Given the description of an element on the screen output the (x, y) to click on. 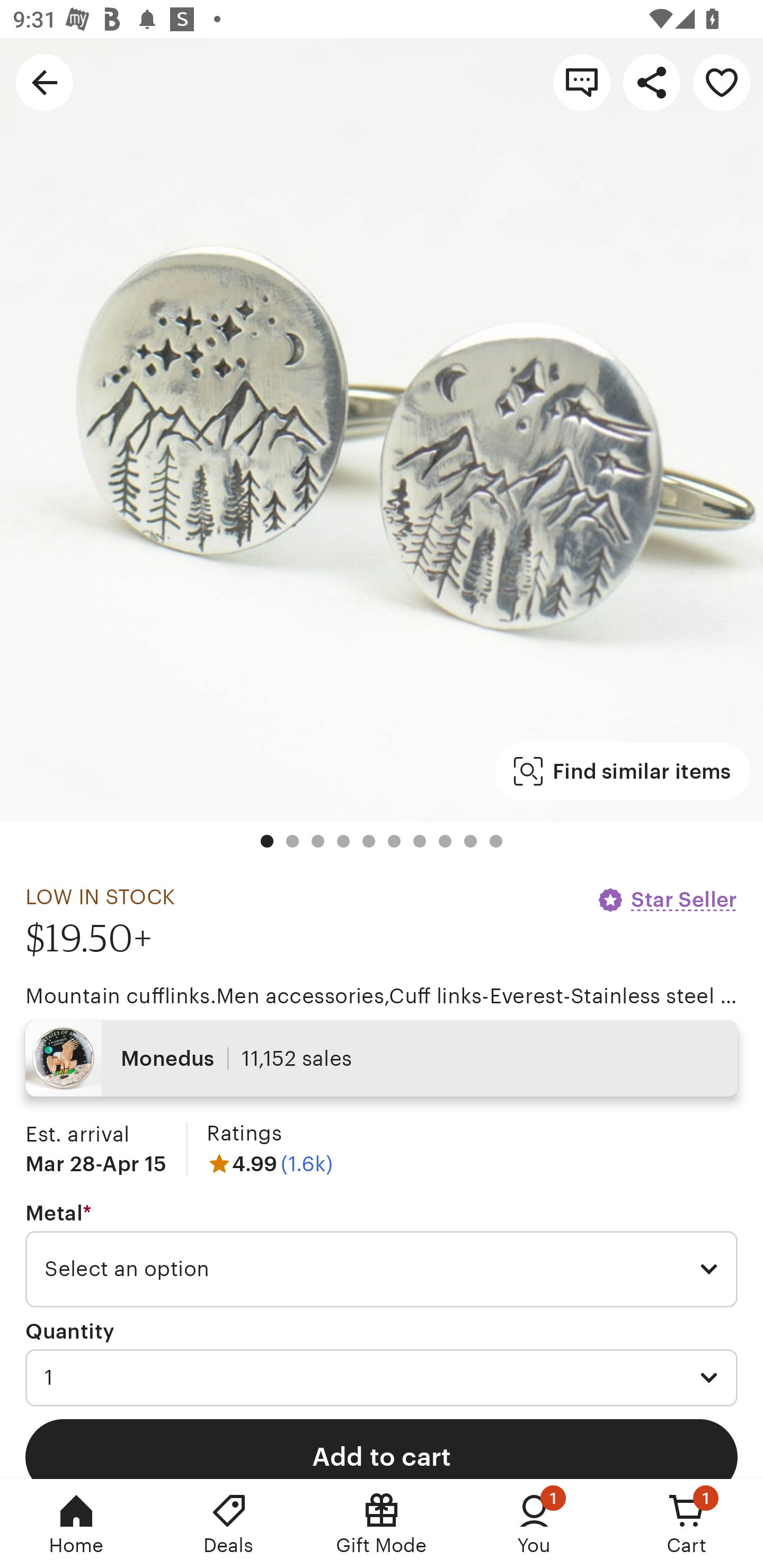
Navigate up (44, 81)
Contact shop (581, 81)
Share (651, 81)
Find similar items (622, 771)
Star Seller (666, 899)
Monedus 11,152 sales (381, 1058)
Ratings (243, 1133)
4.99 (1.6k) (269, 1163)
Metal * Required Select an option (381, 1254)
Select an option (381, 1268)
Quantity (70, 1331)
1 (381, 1377)
Add to cart (381, 1448)
Deals (228, 1523)
Gift Mode (381, 1523)
You, 1 new notification You (533, 1523)
Cart, 1 new notification Cart (686, 1523)
